Given the description of an element on the screen output the (x, y) to click on. 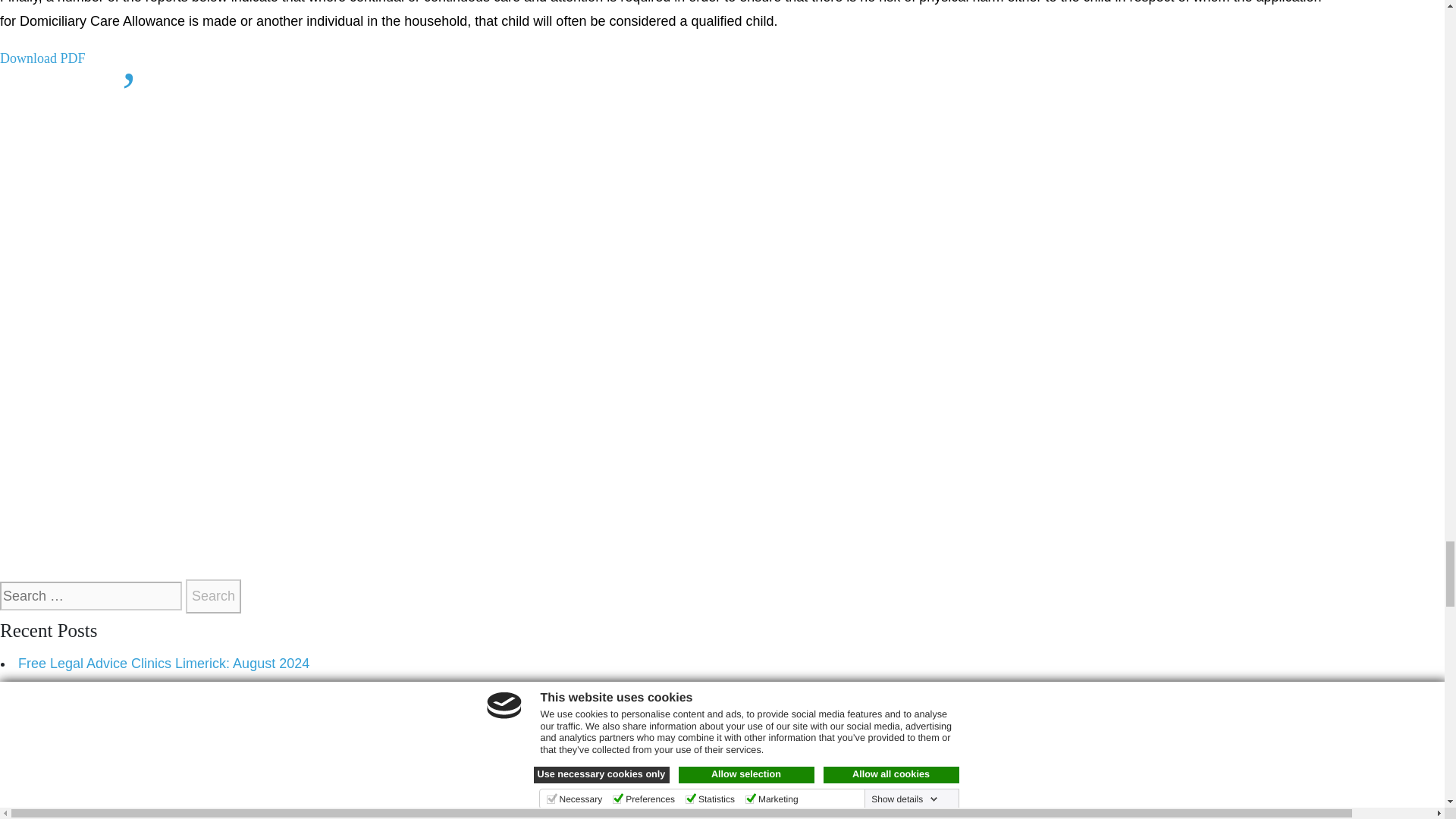
Search (213, 596)
Search (213, 596)
